Given the description of an element on the screen output the (x, y) to click on. 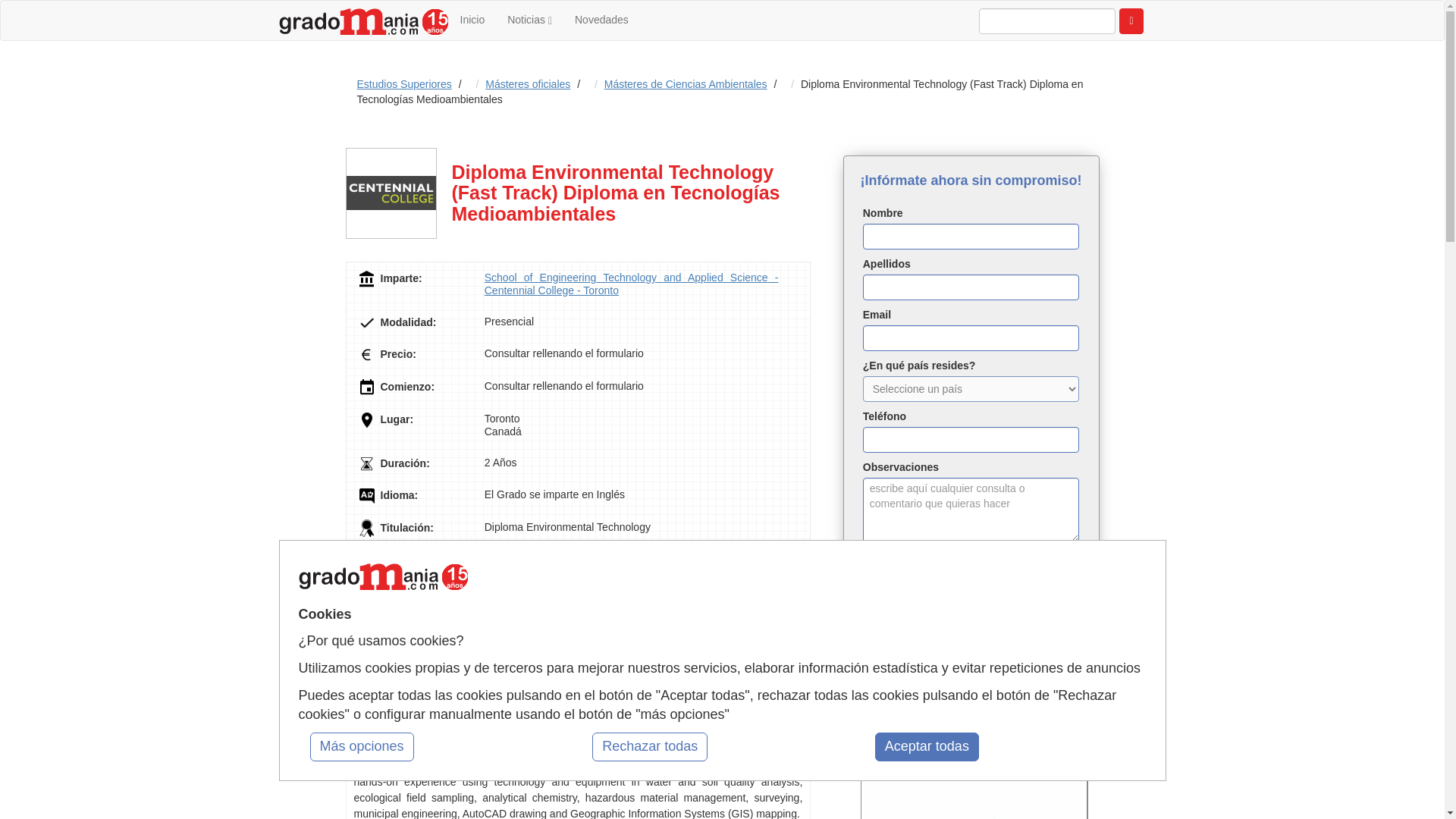
Inicio (472, 19)
Estudios Superiores (403, 83)
1 (872, 605)
1 (872, 660)
Aviso Legal (998, 603)
Novedades (601, 19)
Noticias (529, 19)
